Given the description of an element on the screen output the (x, y) to click on. 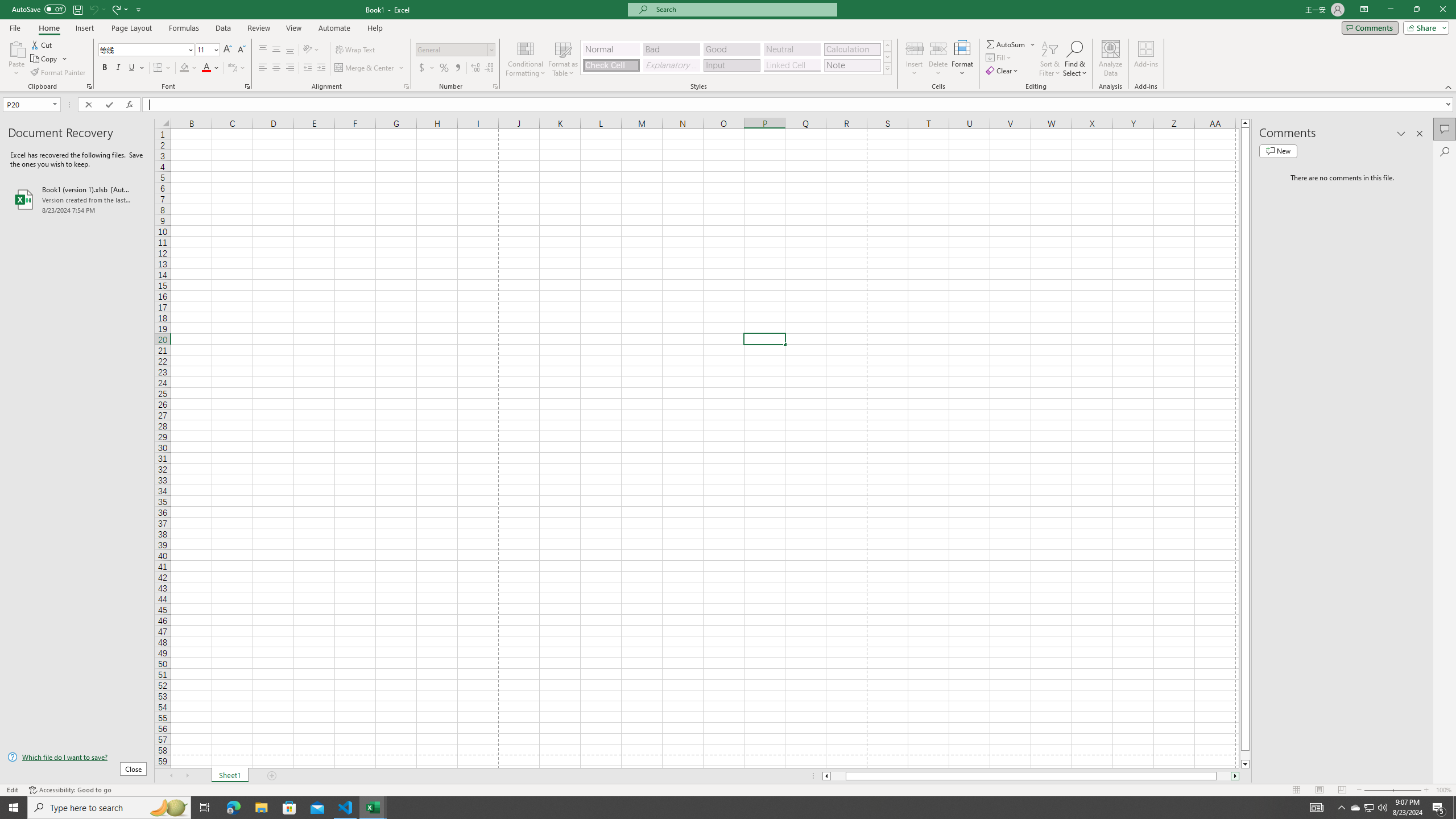
Font (142, 49)
Search (1444, 151)
Increase Decimal (474, 67)
Fill (999, 56)
Note (852, 65)
AutoSum (1011, 44)
Orientation (311, 49)
